Given the description of an element on the screen output the (x, y) to click on. 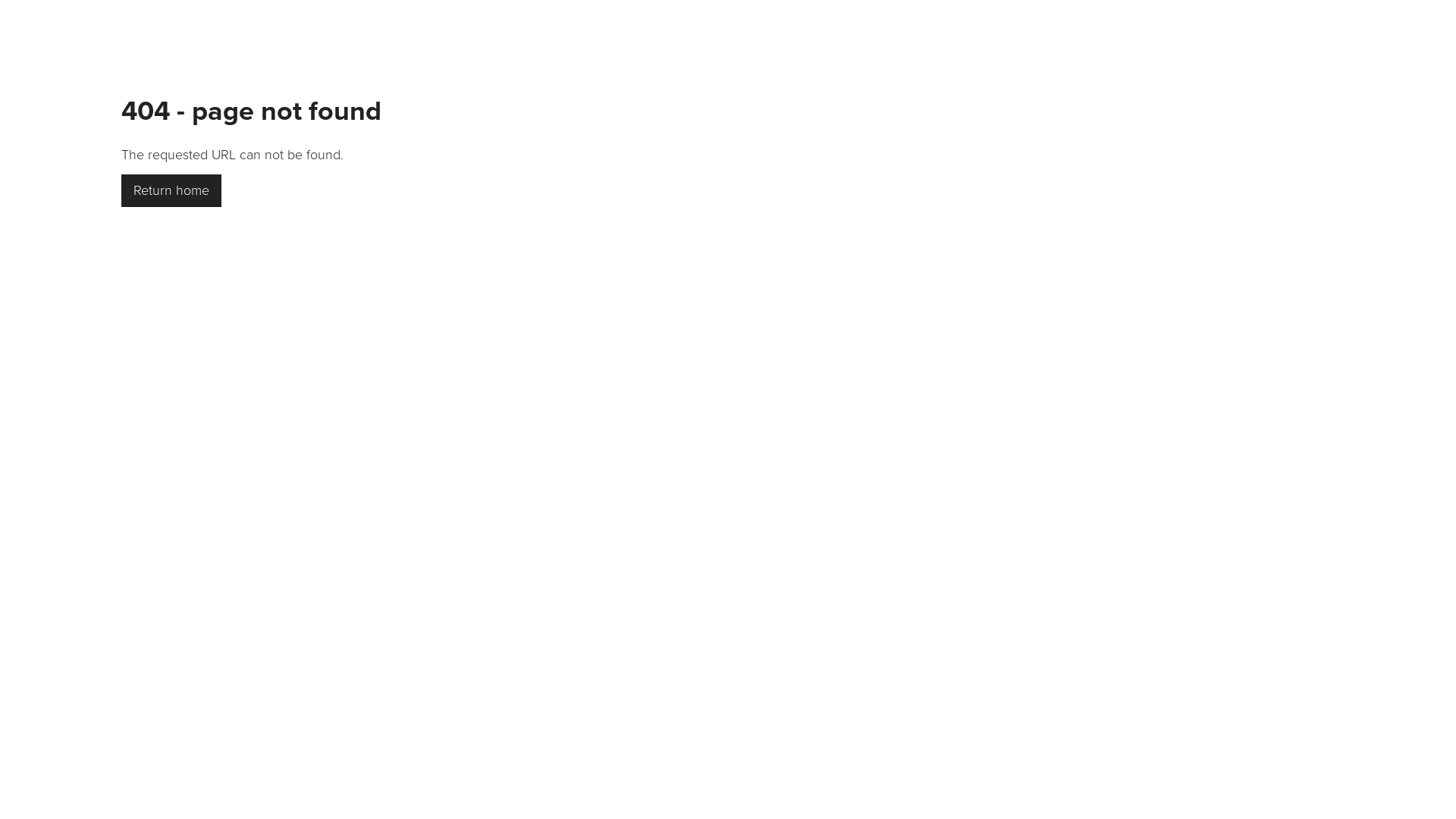
Return home Element type: text (171, 190)
